Given the description of an element on the screen output the (x, y) to click on. 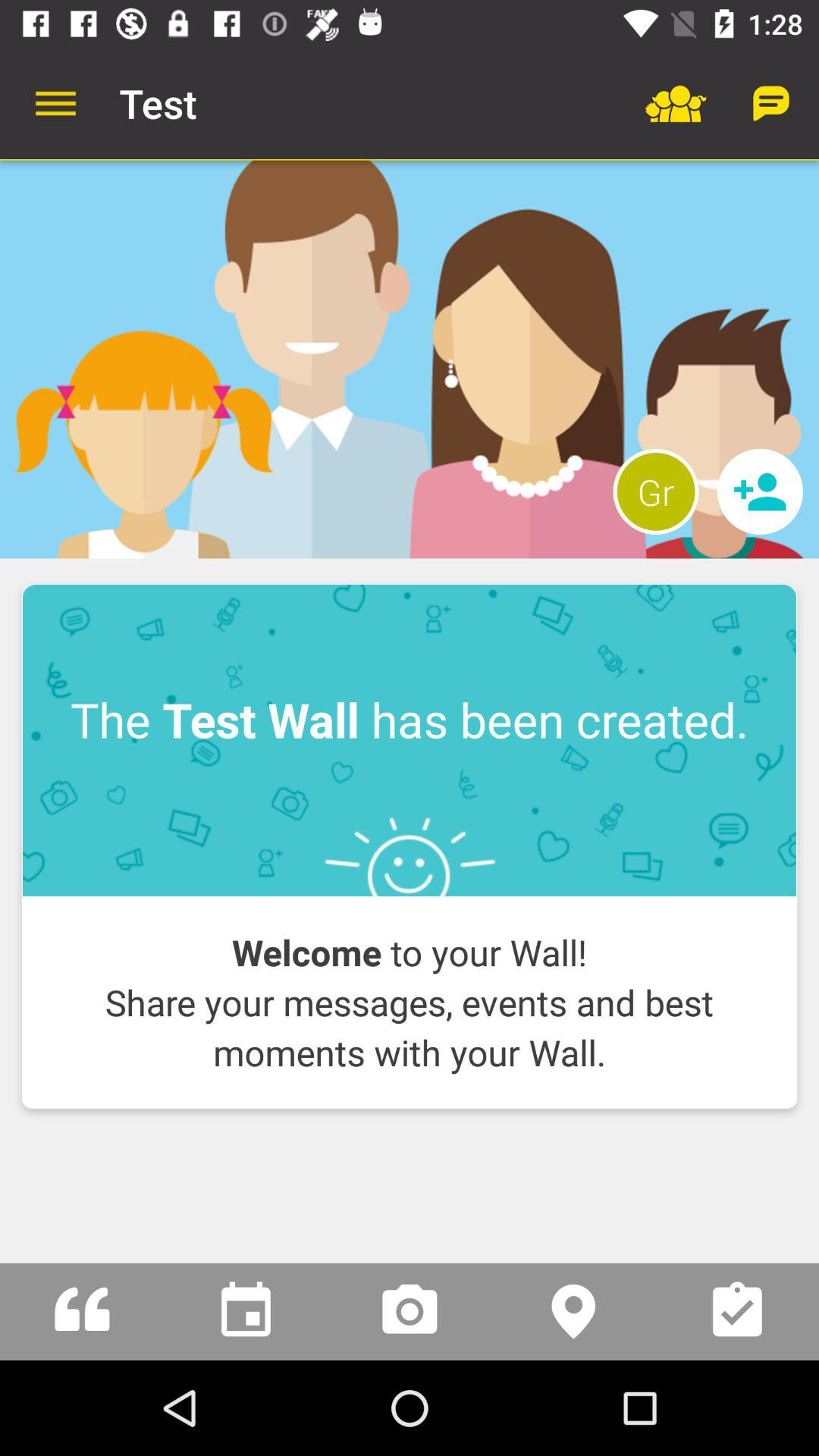
turn off item to the left of test app (55, 103)
